Given the description of an element on the screen output the (x, y) to click on. 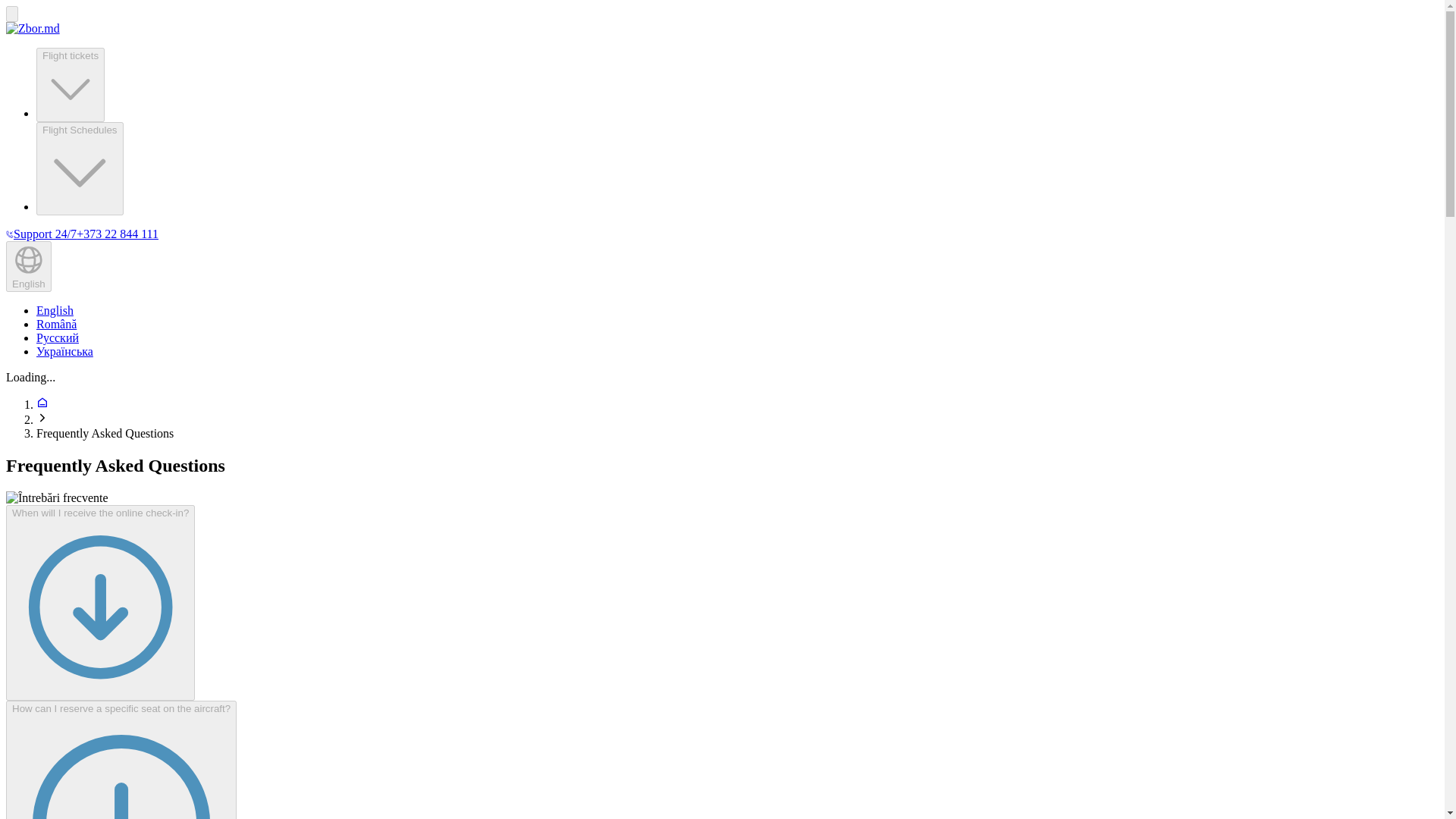
Flight Schedules (79, 168)
English (55, 309)
Flight tickets (70, 84)
When will I receive the online check-in? (100, 602)
How can I reserve a specific seat on the aircraft? (120, 760)
